Given the description of an element on the screen output the (x, y) to click on. 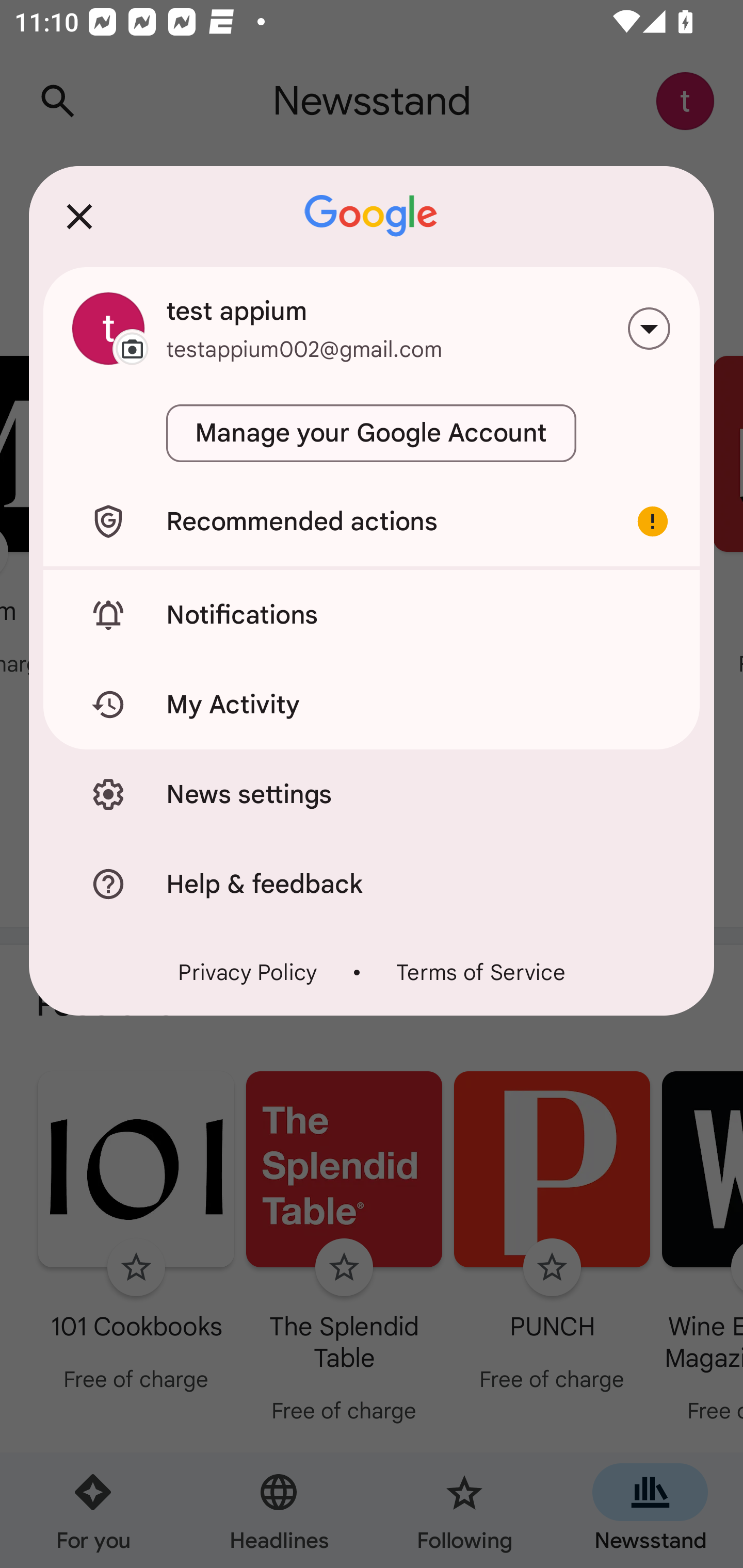
Close (79, 216)
Change profile picture. (108, 328)
Manage your Google Account (371, 433)
Recommended actions Important account alert (371, 521)
Notifications (371, 614)
My Activity (371, 704)
News settings (371, 793)
Help & feedback (371, 883)
Privacy Policy (247, 972)
Terms of Service (479, 972)
